Given the description of an element on the screen output the (x, y) to click on. 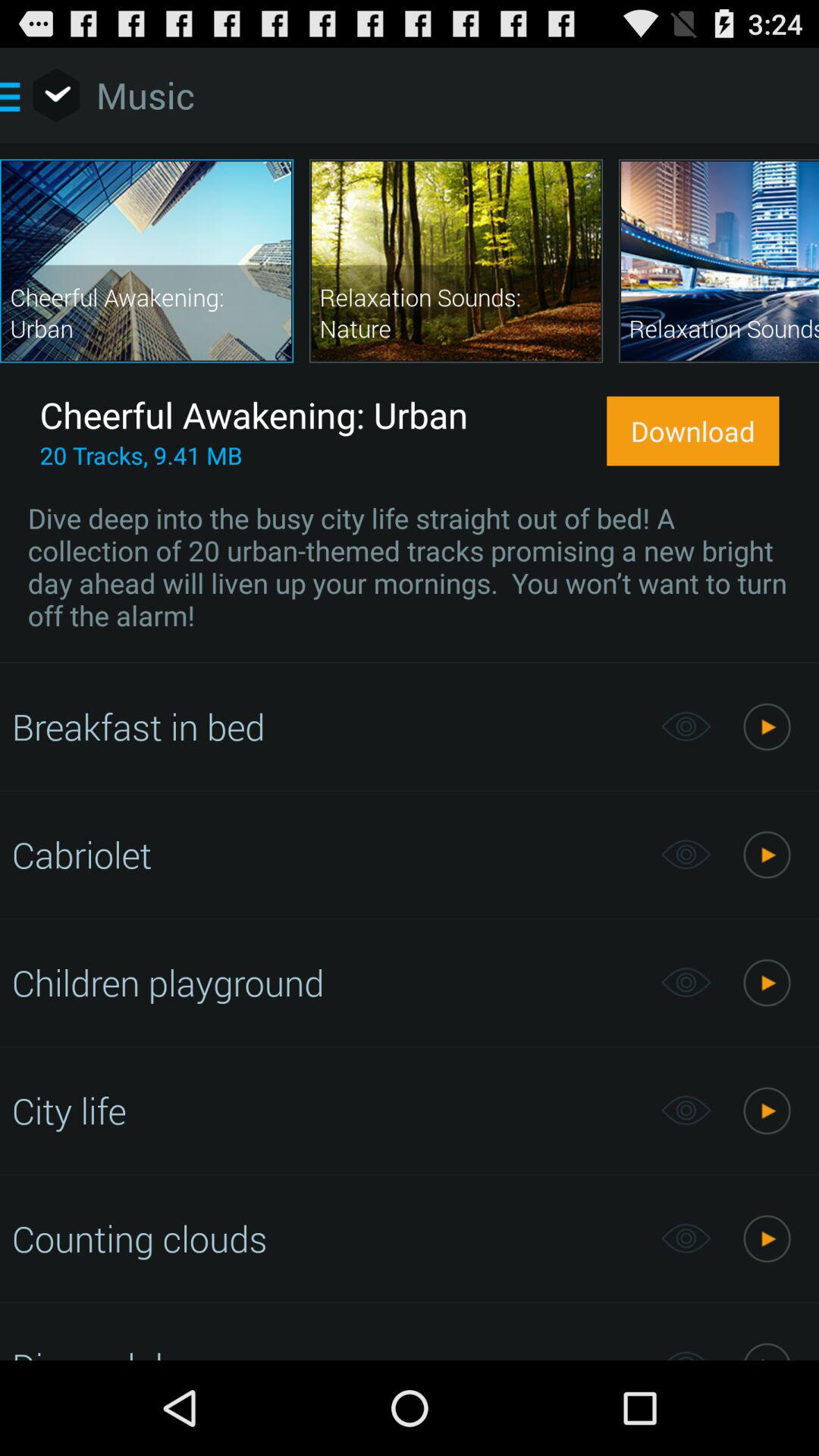
swipe until counting clouds app (327, 1238)
